Given the description of an element on the screen output the (x, y) to click on. 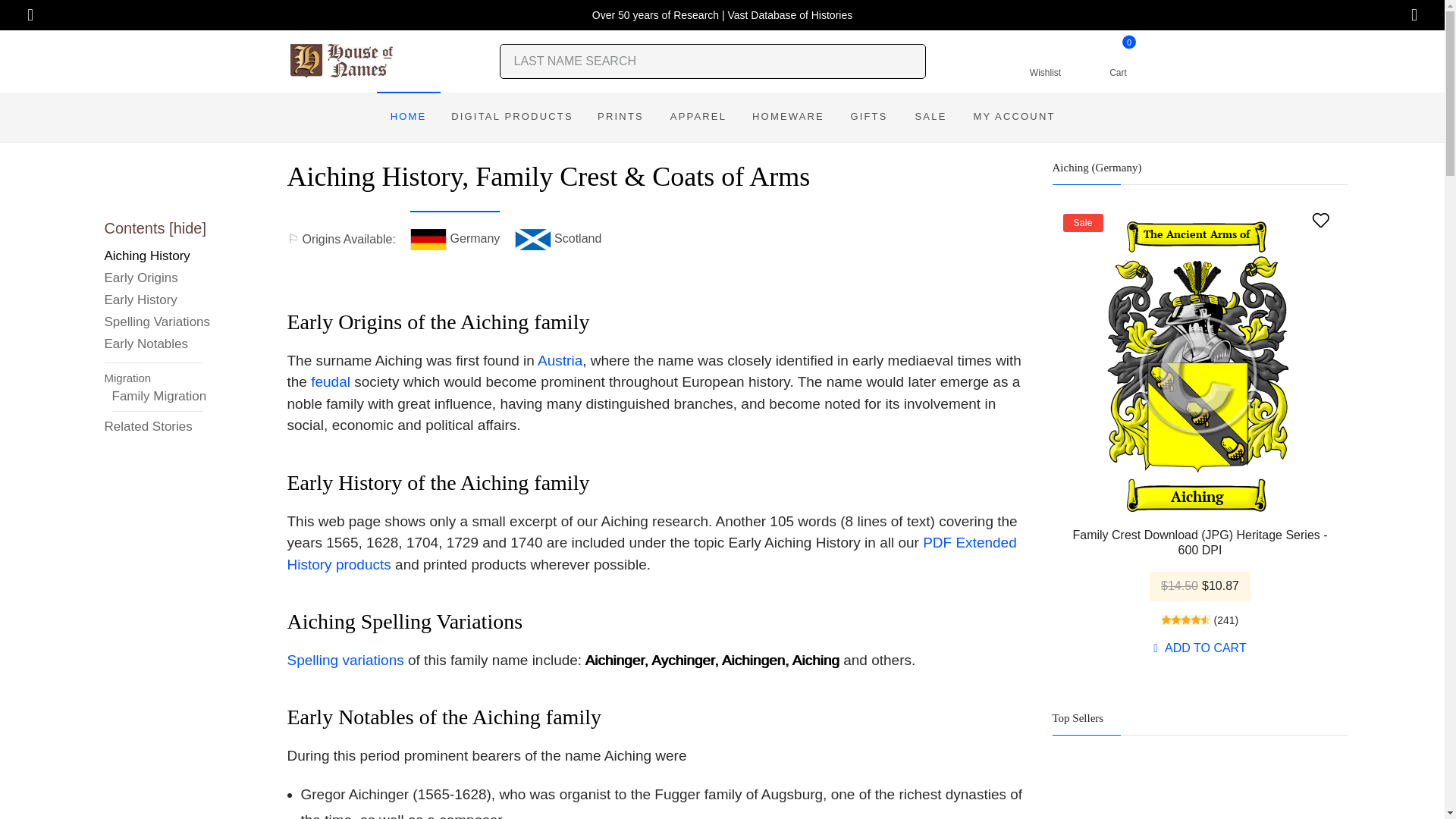
HOMEWARE (788, 116)
Spelling Variations (157, 323)
APPAREL (697, 116)
hide (187, 228)
Wishlist (1045, 61)
Scotland (558, 239)
Aiching History (157, 258)
PRINTS (619, 116)
SALE (930, 116)
Early Origins (157, 279)
